Given the description of an element on the screen output the (x, y) to click on. 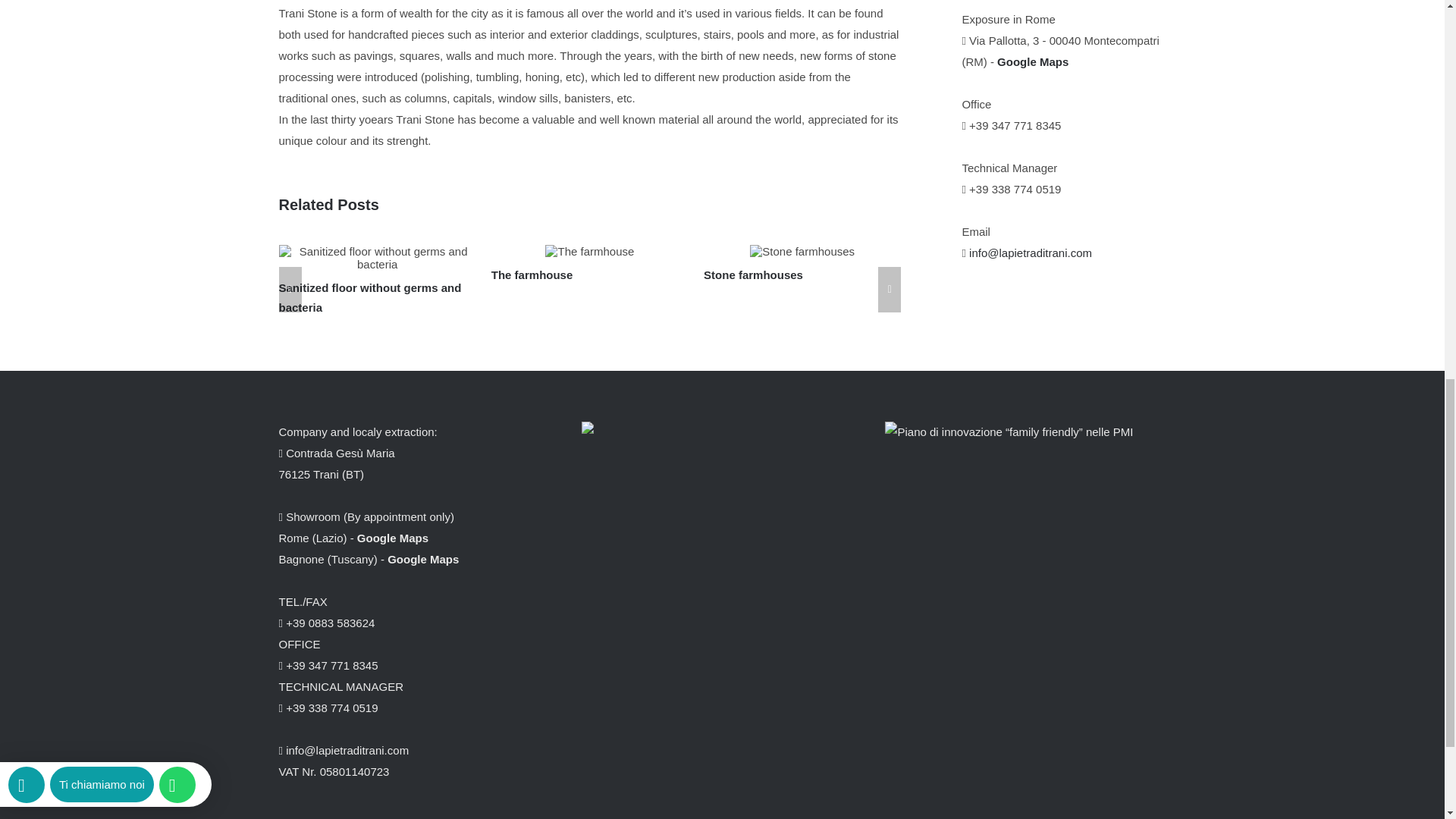
Stone farmhouses (753, 274)
Sanitized floor without germs and bacteria (370, 297)
The farmhouse (532, 274)
